Given the description of an element on the screen output the (x, y) to click on. 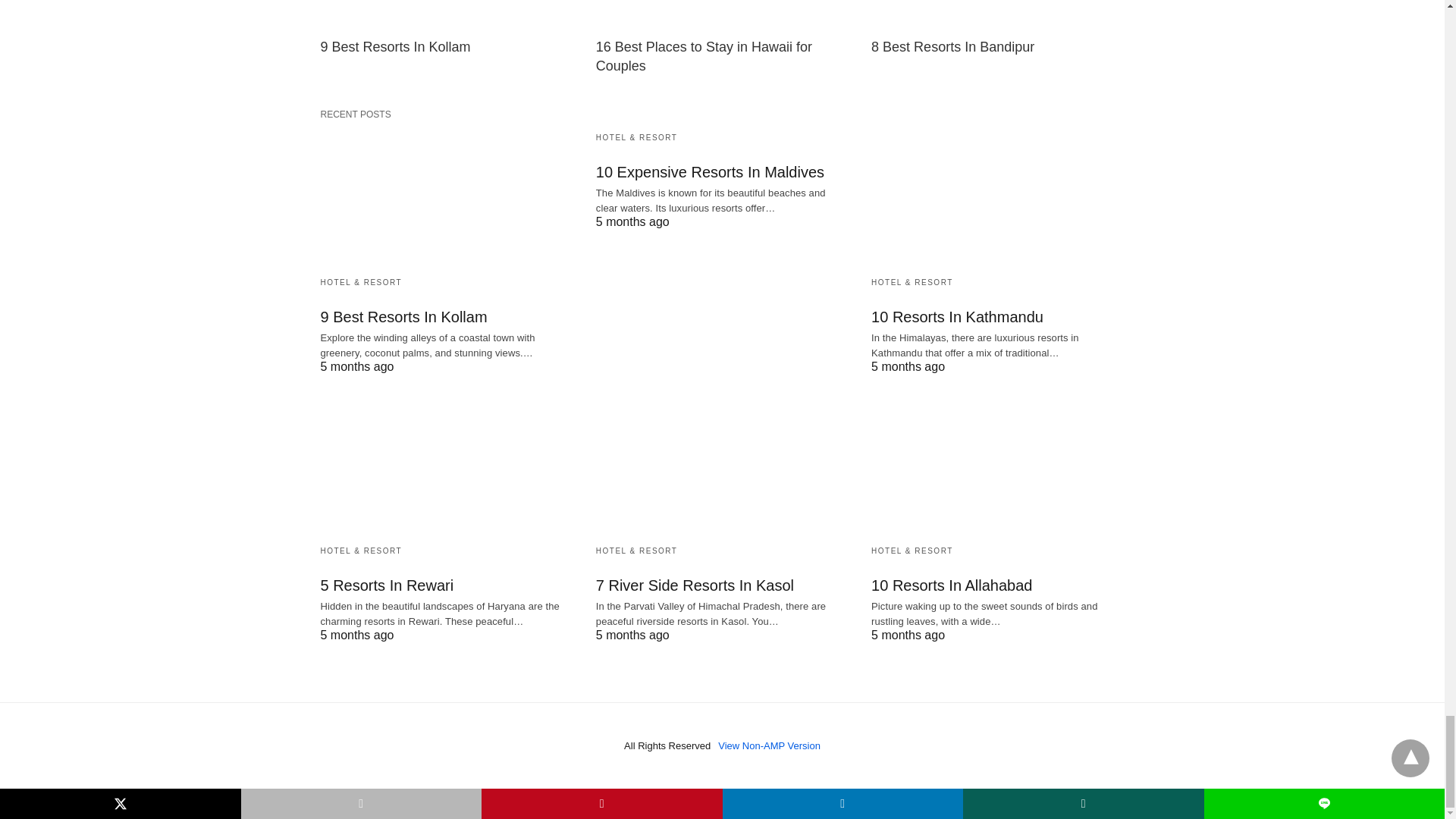
16 Best Places to Stay in Hawaii for Couples (703, 56)
9 Best Resorts In Kollam (395, 46)
5 Resorts In Rewari (386, 585)
8 Best Resorts In Bandipur (951, 46)
8 Best Resorts In Bandipur (951, 46)
10 Expensive Resorts In Maldives (709, 171)
8 Best Resorts In Bandipur (997, 15)
5 Resorts In Rewari (446, 464)
9 Best Resorts In Kollam (403, 316)
16 Best Places to Stay in Hawaii for Couples (703, 56)
